Given the description of an element on the screen output the (x, y) to click on. 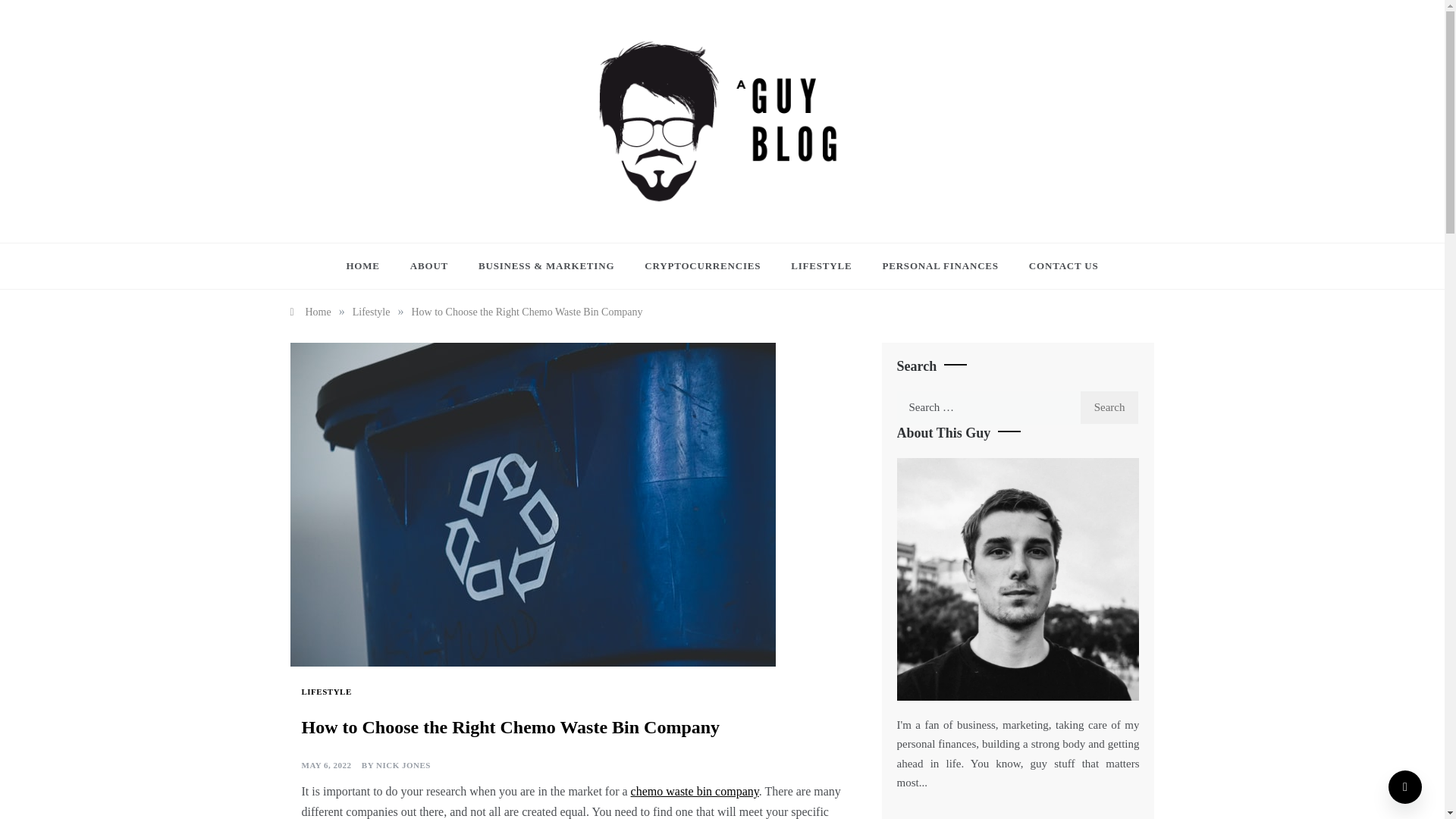
LIFESTYLE (821, 266)
Go to Top (1405, 786)
Search (1110, 407)
Home (309, 311)
CONTACT US (1056, 266)
ABOUT (428, 266)
Lifestyle (371, 311)
A GUY BLOG (657, 221)
MAY 6, 2022 (326, 766)
Search (1110, 407)
